Given the description of an element on the screen output the (x, y) to click on. 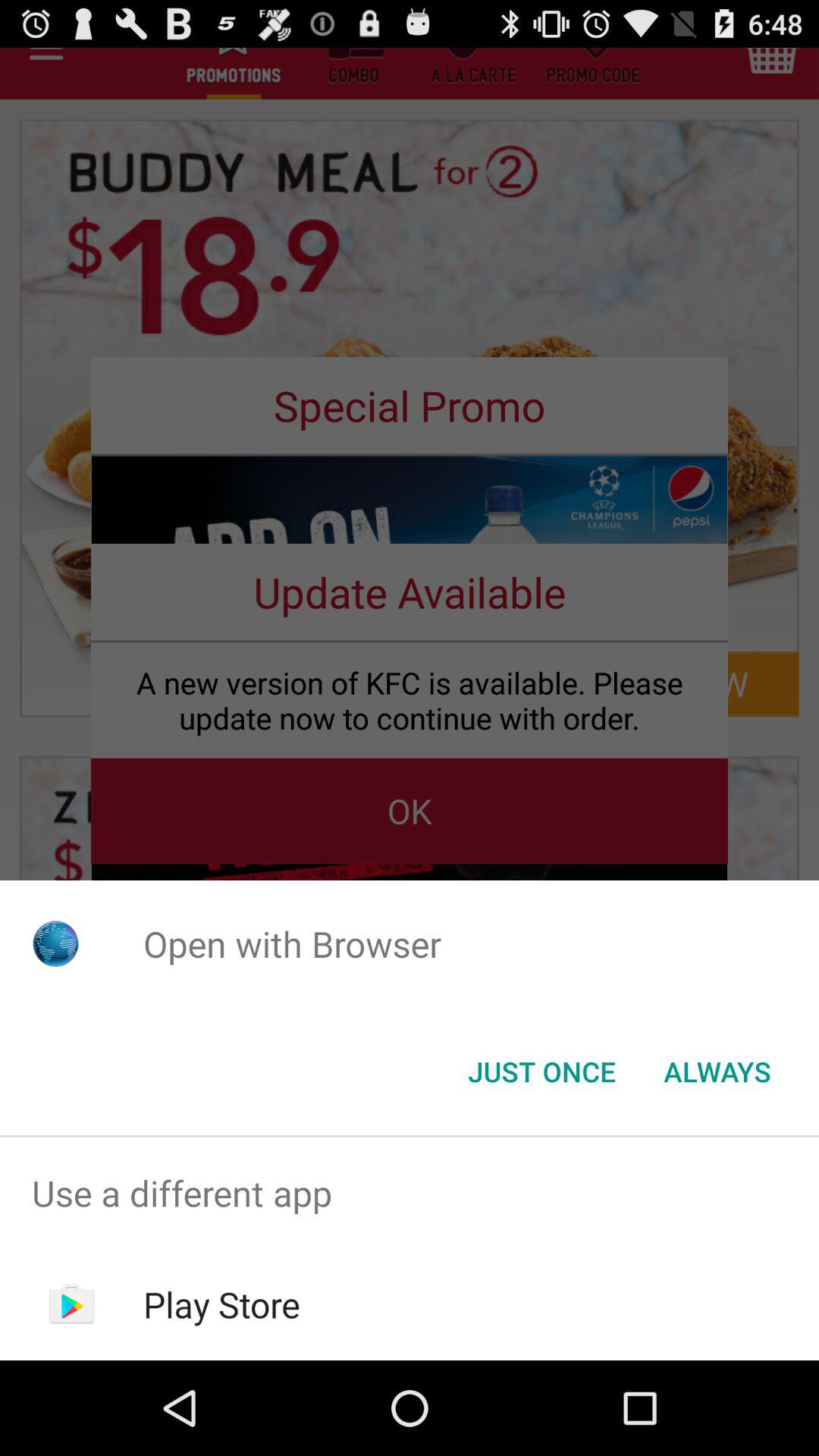
tap the button to the right of the just once (717, 1071)
